Given the description of an element on the screen output the (x, y) to click on. 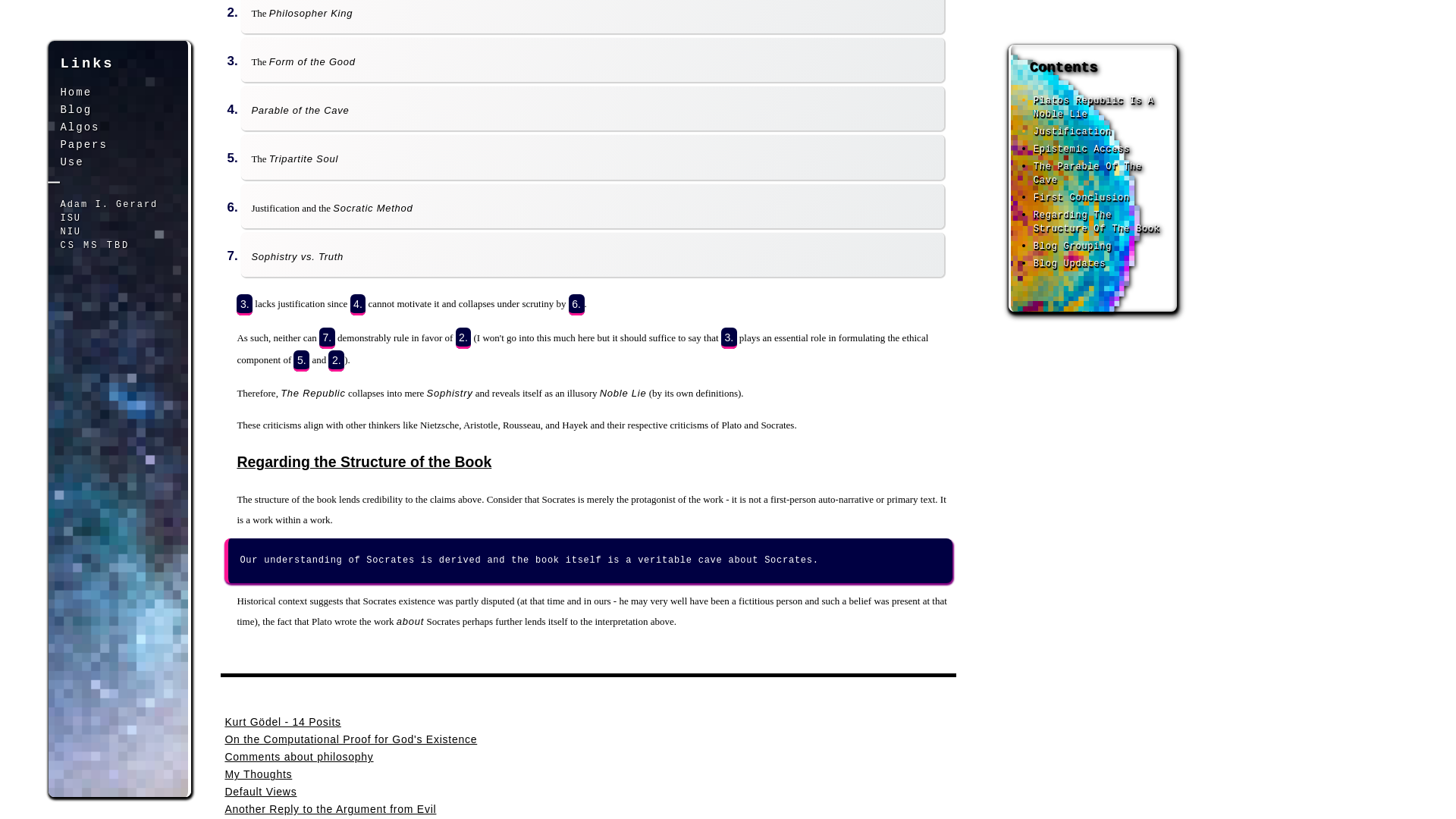
My Thoughts (258, 774)
Comments about philosophy (298, 756)
On the Computational Proof for God's Existence (350, 739)
Default Views (260, 791)
Another Reply to the Argument from Evil (329, 808)
